Given the description of an element on the screen output the (x, y) to click on. 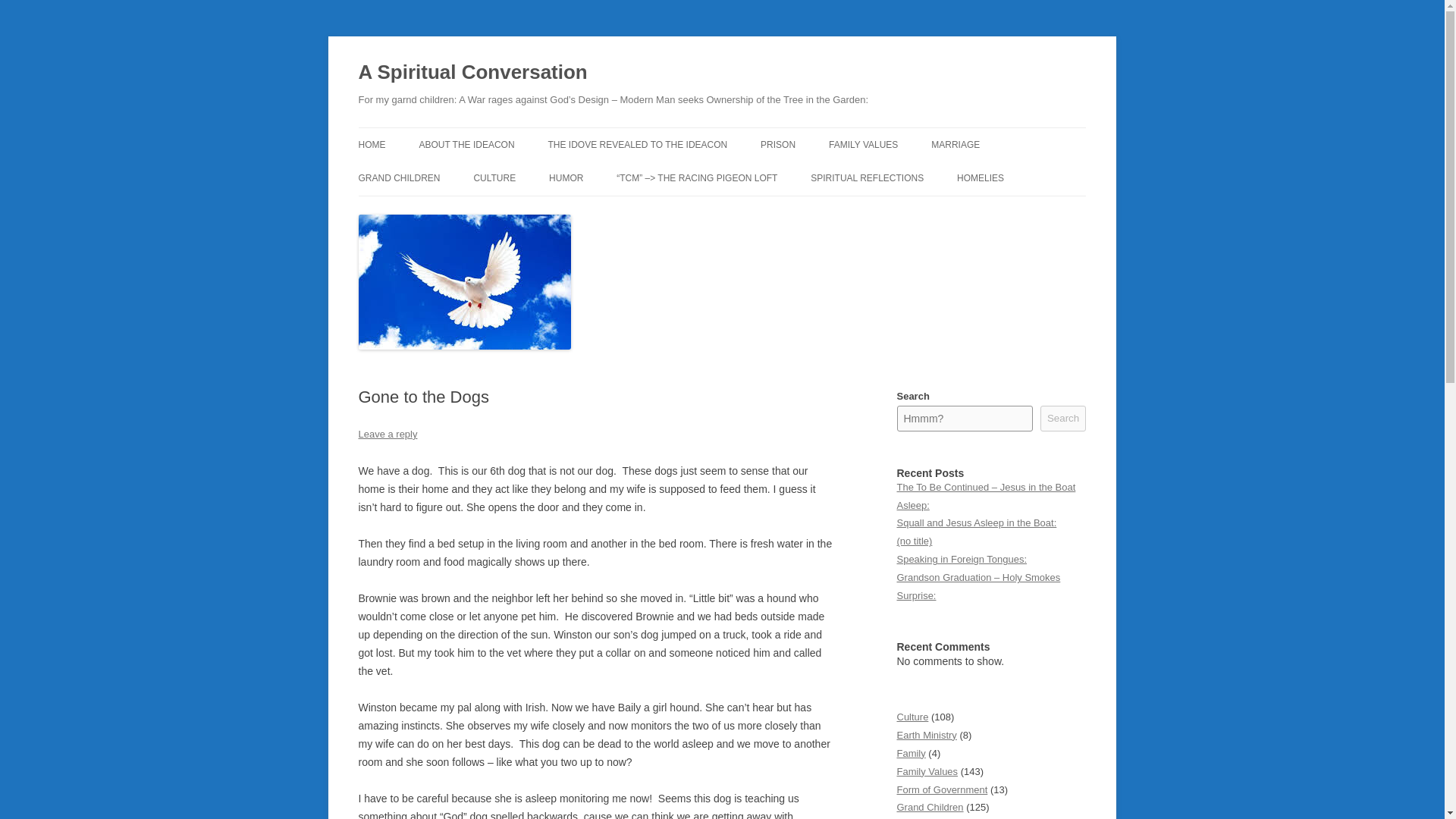
Speaking in Foreign Tongues: (961, 559)
HOMELIES (980, 177)
SPIRITUAL REFLECTIONS (866, 177)
Search (1063, 418)
Leave a reply (387, 433)
Family Values (927, 771)
Earth Ministry (926, 735)
FAMILY VALUES (863, 144)
A Spiritual Conversation (472, 72)
ABOUT THE IDEACON (466, 144)
PRISON (777, 144)
Family (910, 753)
Culture (912, 716)
Squall and Jesus Asleep in the Boat: (976, 522)
